Given the description of an element on the screen output the (x, y) to click on. 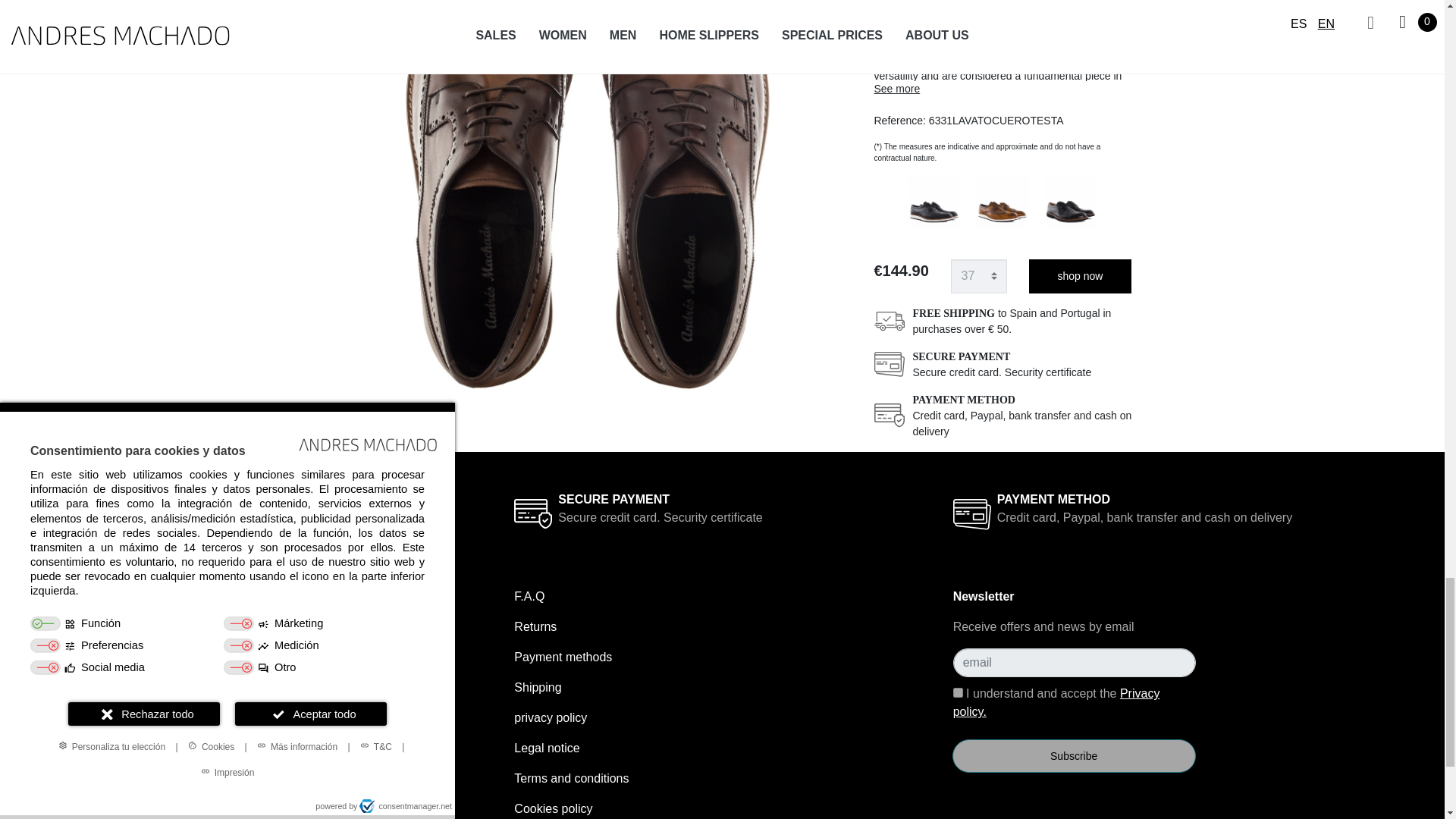
on (957, 692)
